Given the description of an element on the screen output the (x, y) to click on. 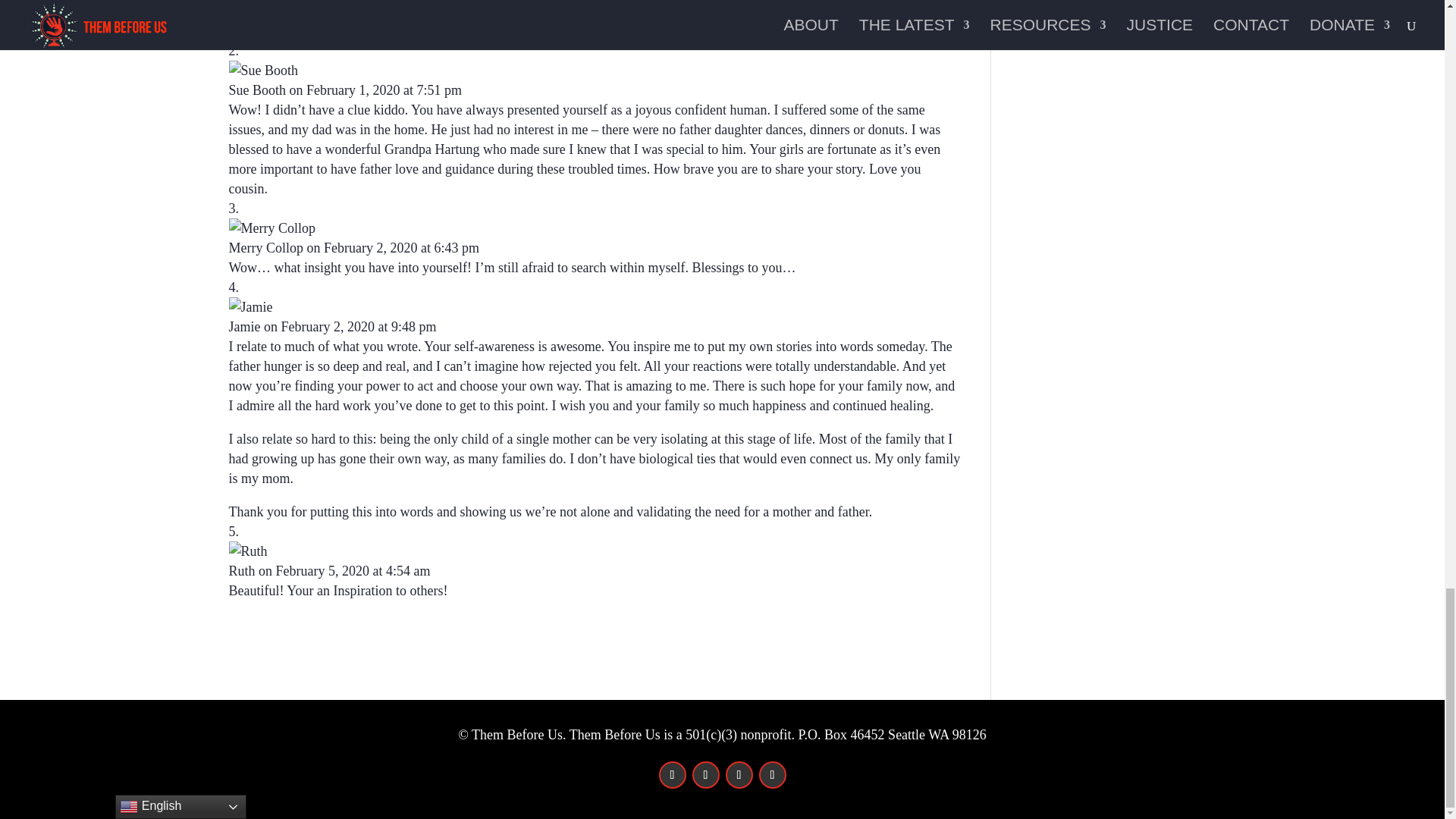
Follow on Facebook (671, 774)
Follow on Spotify (772, 774)
Follow on Instagram (738, 774)
Follow on X (705, 774)
